Given the description of an element on the screen output the (x, y) to click on. 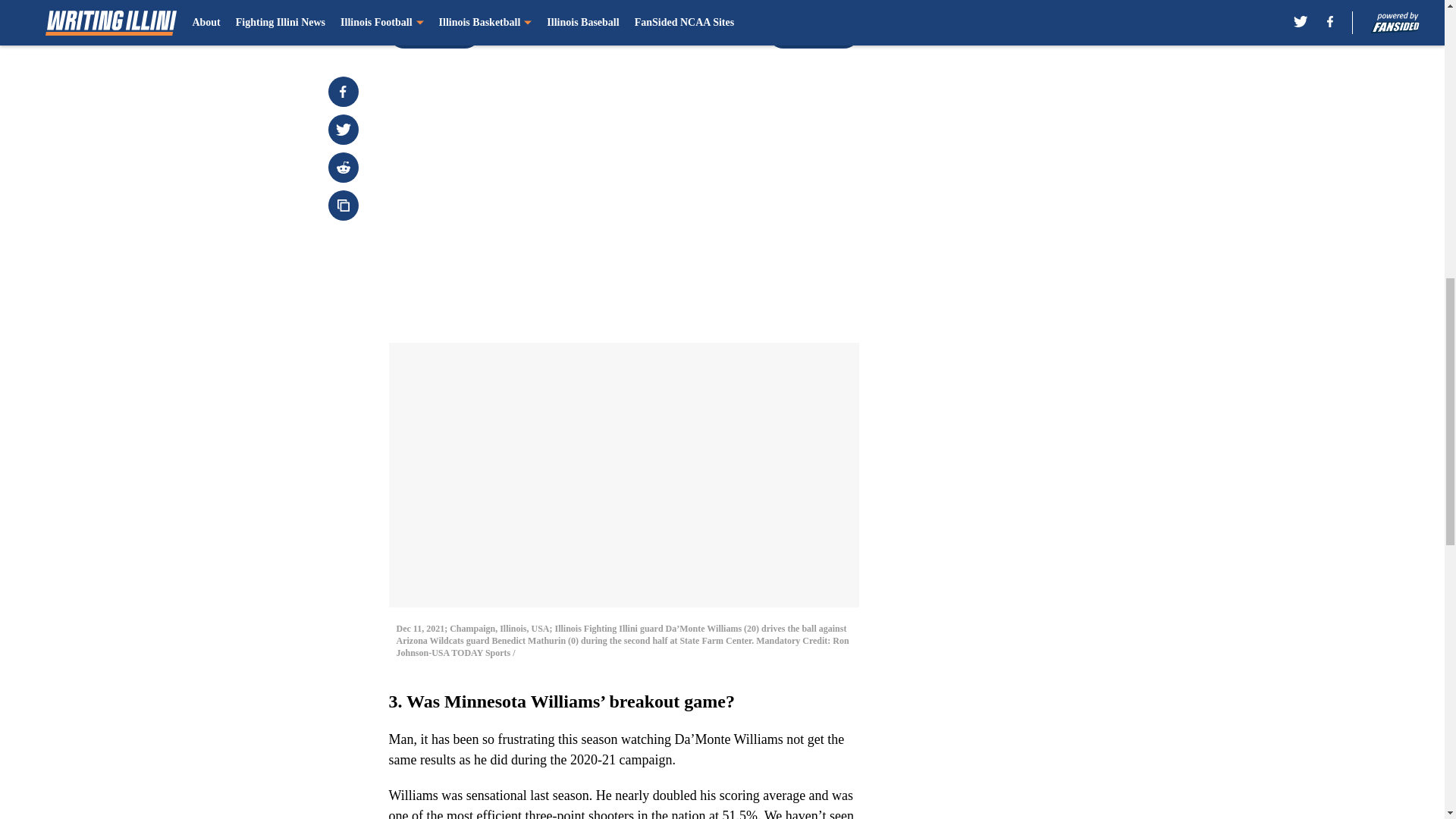
Next (813, 33)
Prev (433, 33)
